Given the description of an element on the screen output the (x, y) to click on. 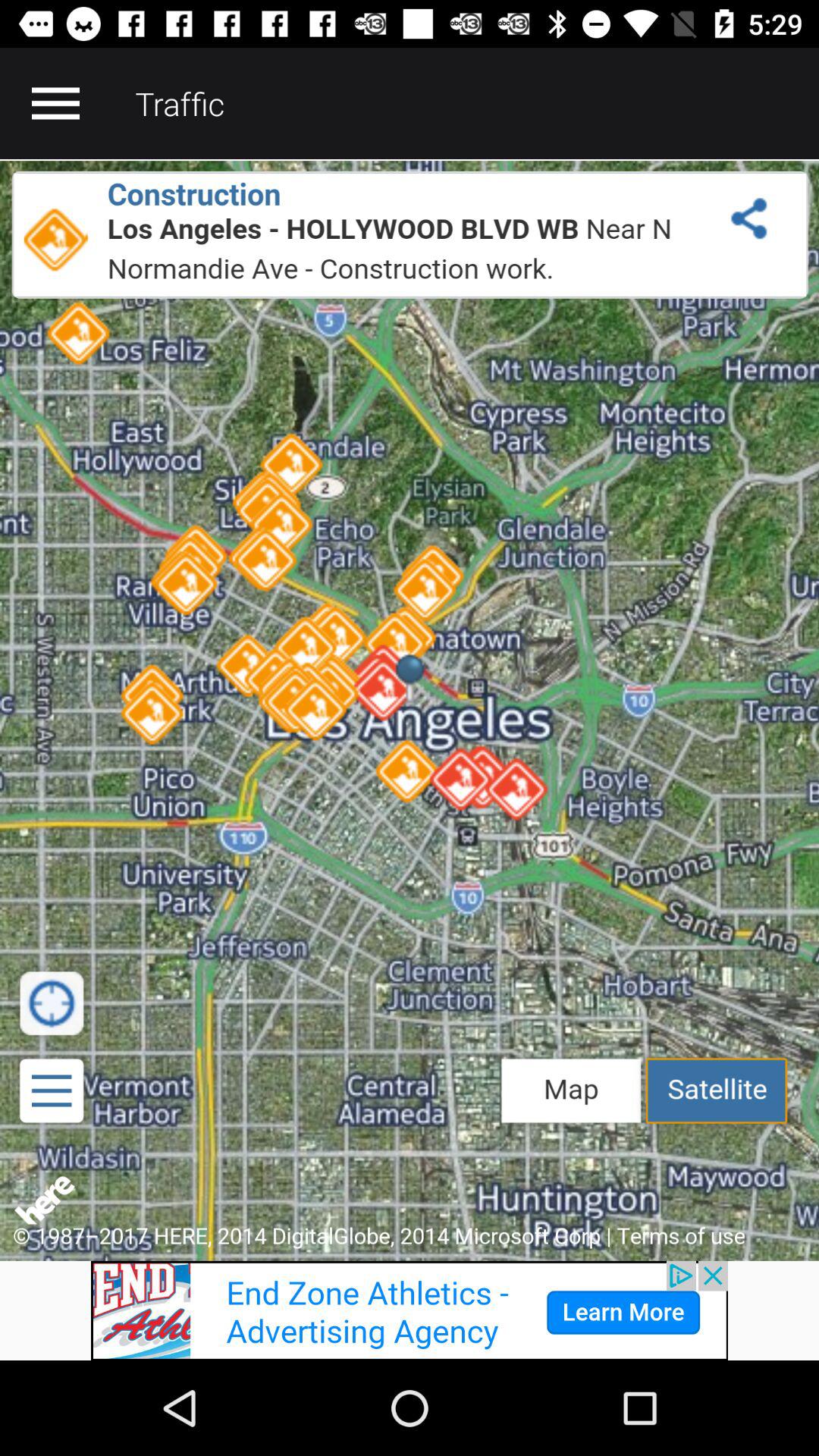
menu button (55, 103)
